Given the description of an element on the screen output the (x, y) to click on. 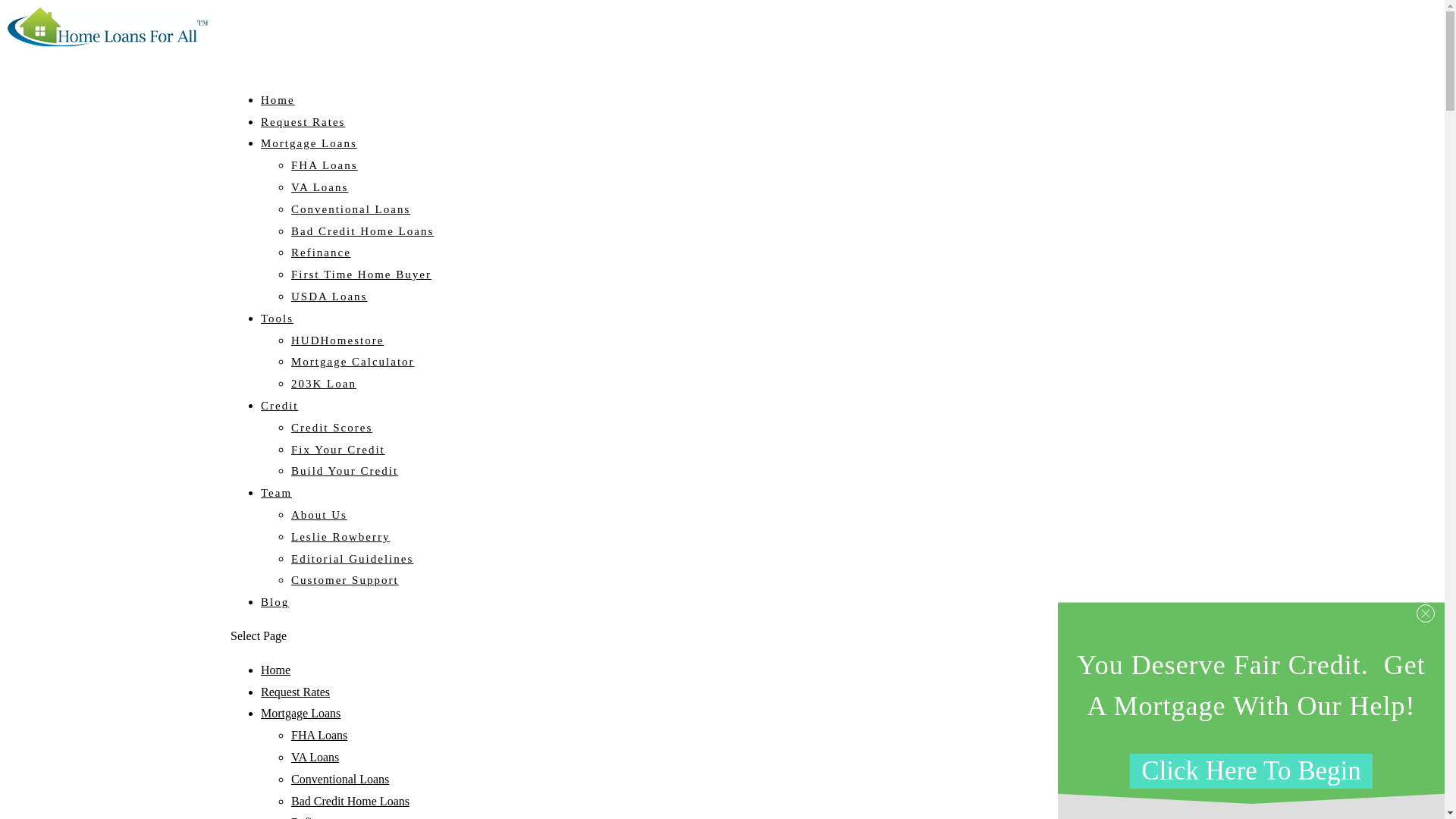
The VA Loan Guide (315, 757)
Editorial Guidelines (352, 558)
Request Rates (302, 133)
Home (277, 111)
USDA Loans (328, 296)
Conventional Loan Guidelines (339, 779)
The VA Loan Guide (319, 186)
Mortgage Refinance (320, 252)
Build Your Credit (344, 470)
Refinance (320, 252)
Tools (277, 330)
Home (274, 669)
Leslie Rowberry (340, 536)
Customer Support (344, 580)
Mortgage Loans (300, 712)
